Given the description of an element on the screen output the (x, y) to click on. 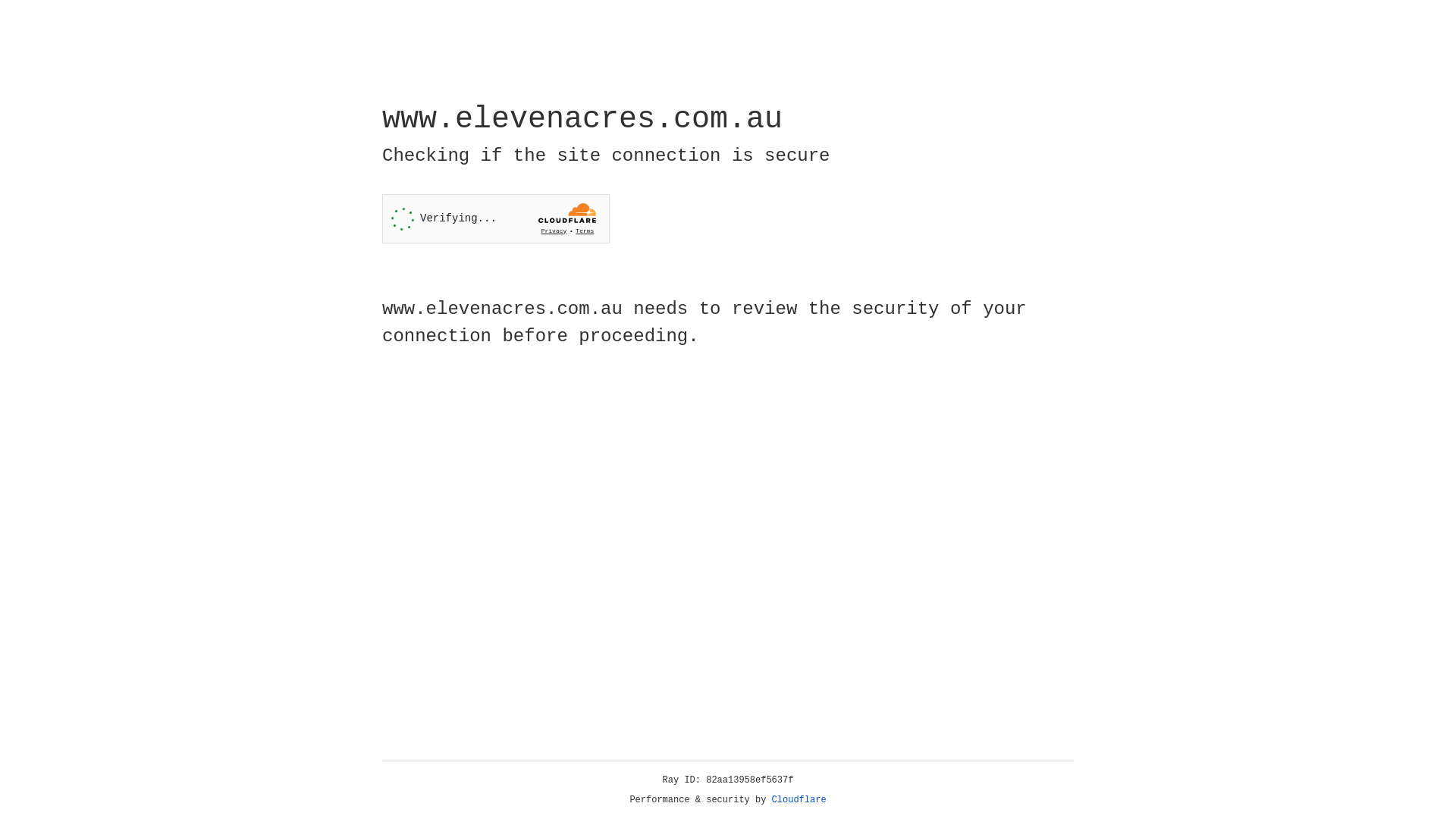
Cloudflare Element type: text (798, 799)
Widget containing a Cloudflare security challenge Element type: hover (495, 218)
